Given the description of an element on the screen output the (x, y) to click on. 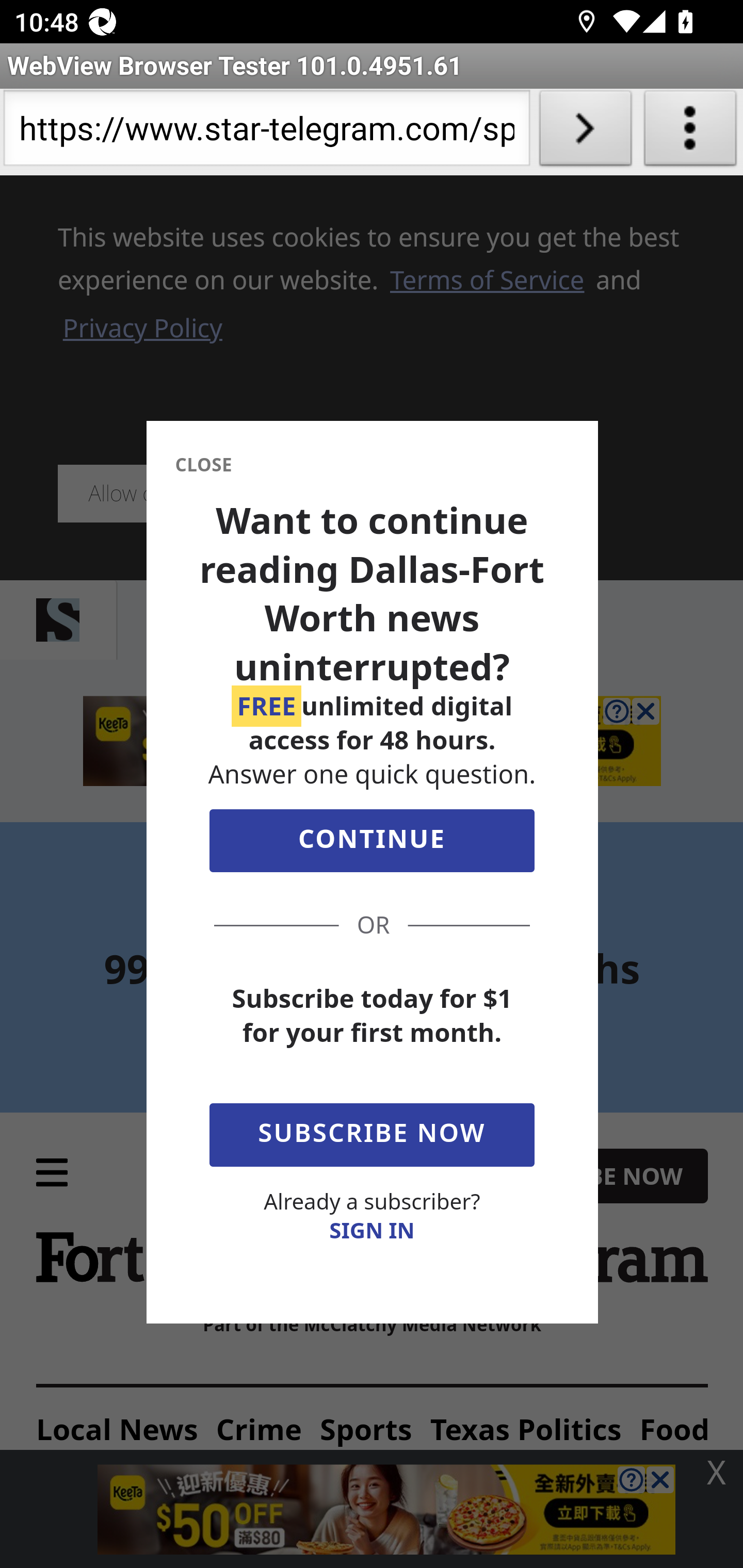
Load URL (585, 132)
About WebView (690, 132)
CLOSE (203, 464)
CONTINUE (371, 844)
SUBSCRIBE NOW (371, 1130)
SIGN IN (371, 1229)
